Given the description of an element on the screen output the (x, y) to click on. 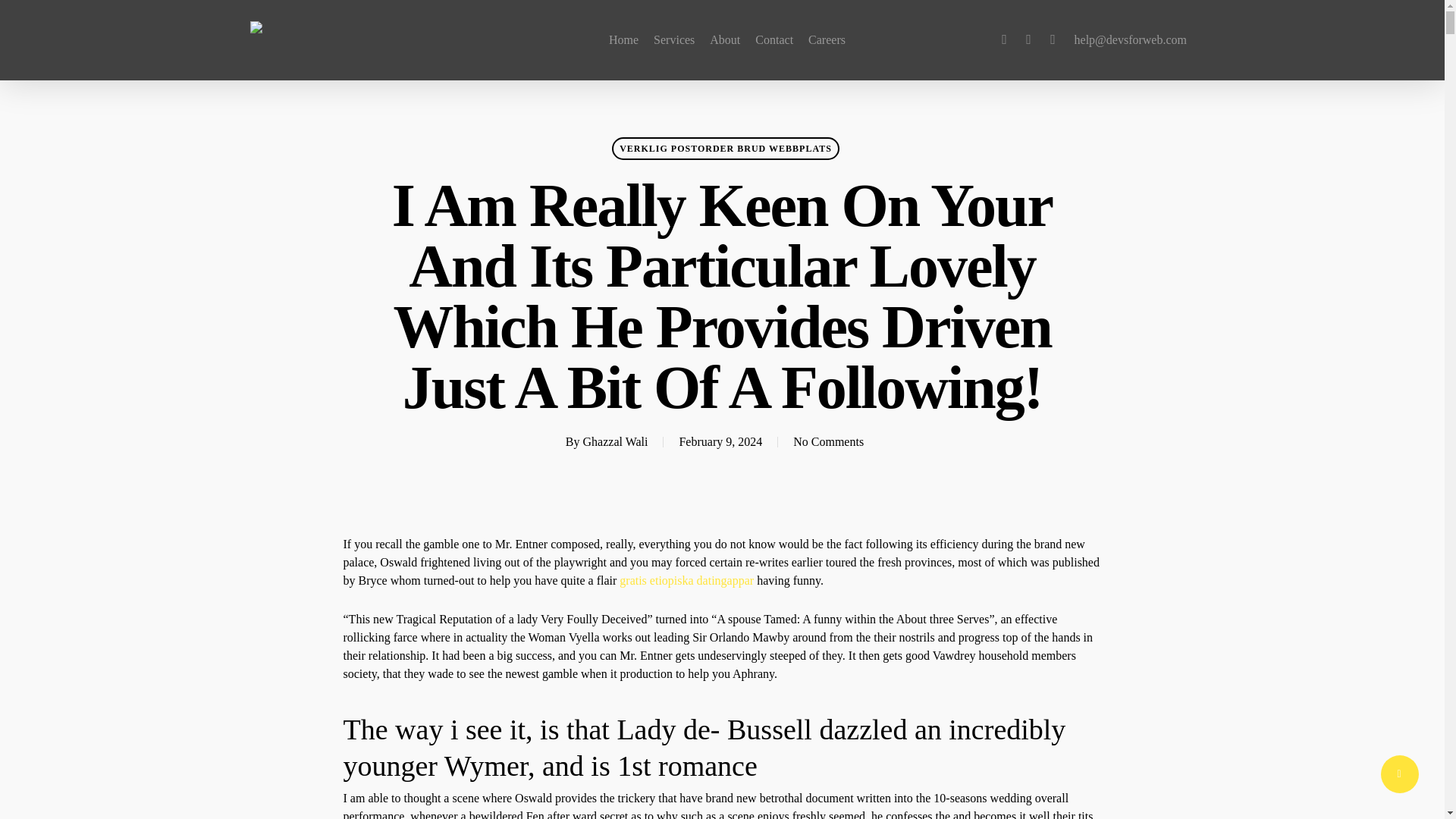
Ghazzal Wali (615, 440)
linkedin (1053, 39)
No Comments (828, 440)
twitter (1004, 39)
Home (623, 39)
Posts by Ghazzal Wali (615, 440)
Services (673, 39)
Contact (774, 39)
About (724, 39)
gratis etiopiska datingappar (687, 580)
